Given the description of an element on the screen output the (x, y) to click on. 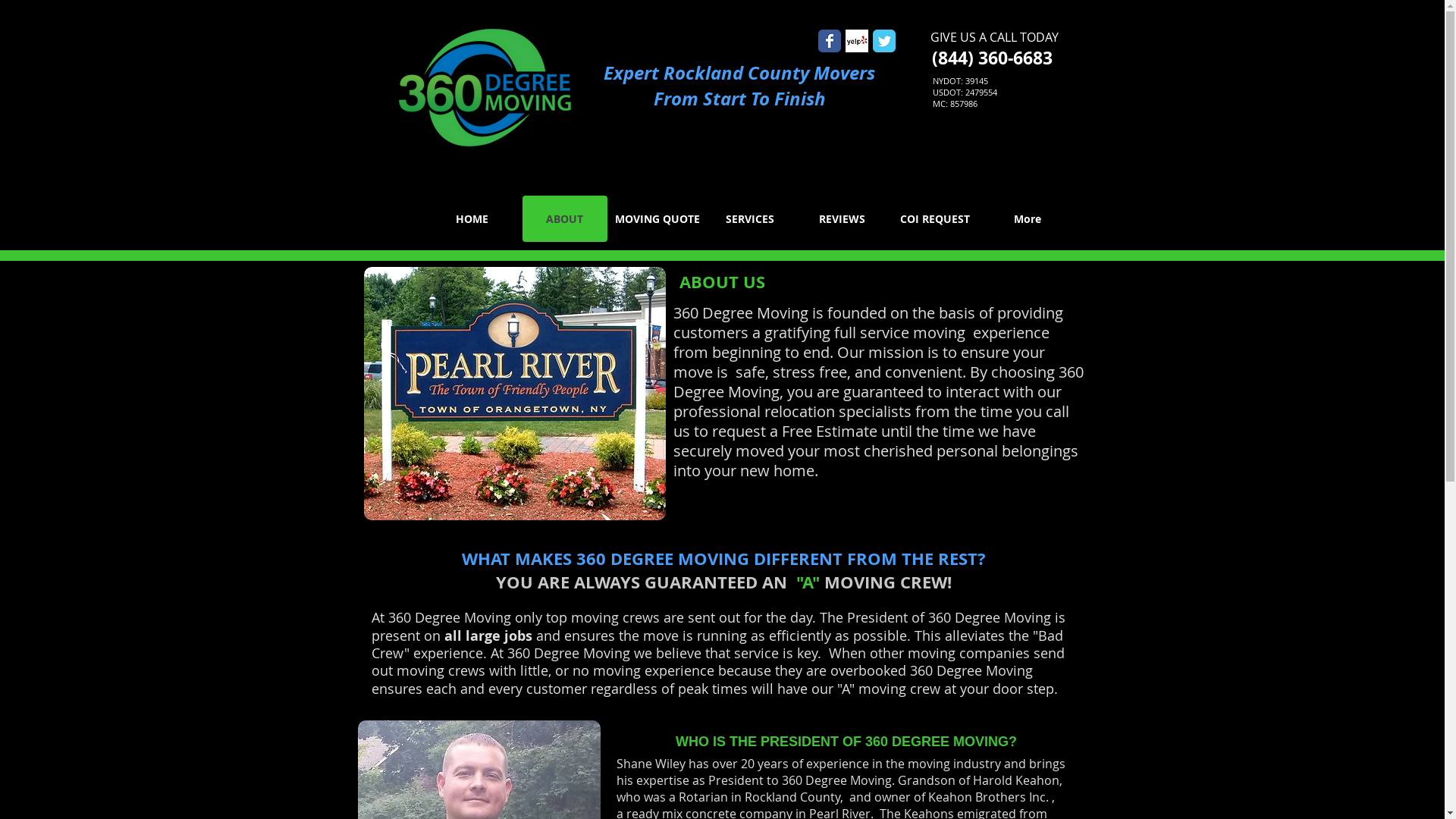
Rockland N.Y. Moving Company|360 Degree Moving Element type: hover (514, 393)
ABOUT Element type: text (563, 218)
SERVICES Element type: text (748, 218)
MOVING QUOTE Element type: text (656, 218)
COI REQUEST Element type: text (933, 218)
HOME Element type: text (471, 218)
Rockland Westchester Moving Company Element type: hover (482, 91)
REVIEWS Element type: text (841, 218)
